Given the description of an element on the screen output the (x, y) to click on. 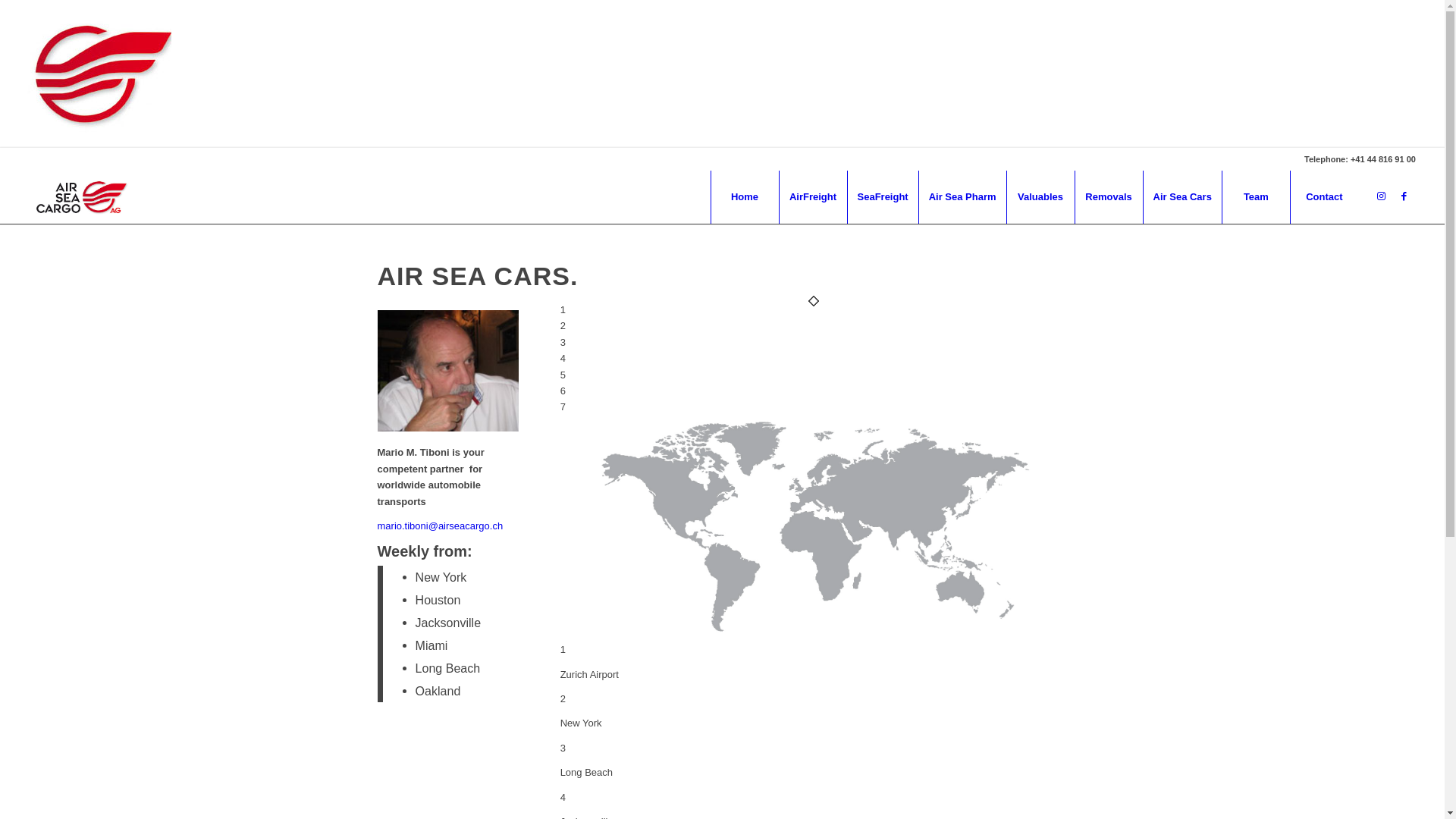
mario.tiboni@airseacargo.ch Element type: text (440, 525)
air sea cars map usa-01 Element type: hover (813, 526)
Valuables Element type: text (1040, 196)
Team Element type: text (1255, 196)
Contact Element type: text (1323, 196)
Home Element type: text (743, 196)
Air Sea Pharm Element type: text (962, 196)
Instagram Element type: hover (1381, 196)
Removals Element type: text (1108, 196)
PLANTILLA LOGOS Element type: hover (81, 196)
Air Sea Cars Element type: text (1181, 196)
Facebook Element type: hover (1404, 196)
Loading Element type: hover (85, 71)
AirFreight Element type: text (812, 196)
SeaFreight Element type: text (881, 196)
